Given the description of an element on the screen output the (x, y) to click on. 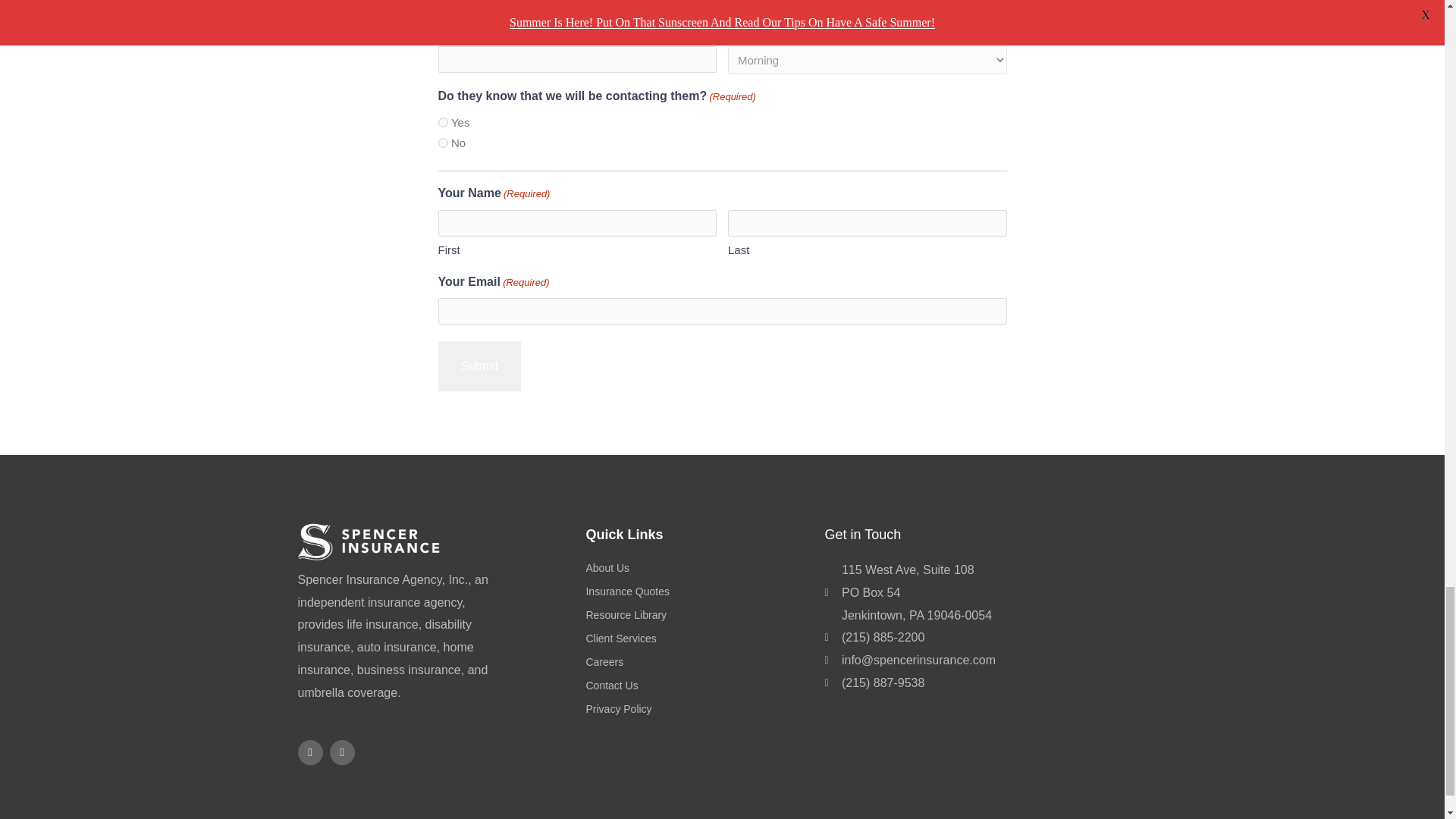
Yes (443, 122)
Client Services (697, 639)
About Us (697, 568)
Insurance Quotes (697, 591)
Twitter (341, 752)
Facebook-f (309, 752)
Contact Us (697, 686)
Careers (697, 662)
Privacy Policy (697, 709)
Resource Library (697, 615)
Submit (479, 366)
